Given the description of an element on the screen output the (x, y) to click on. 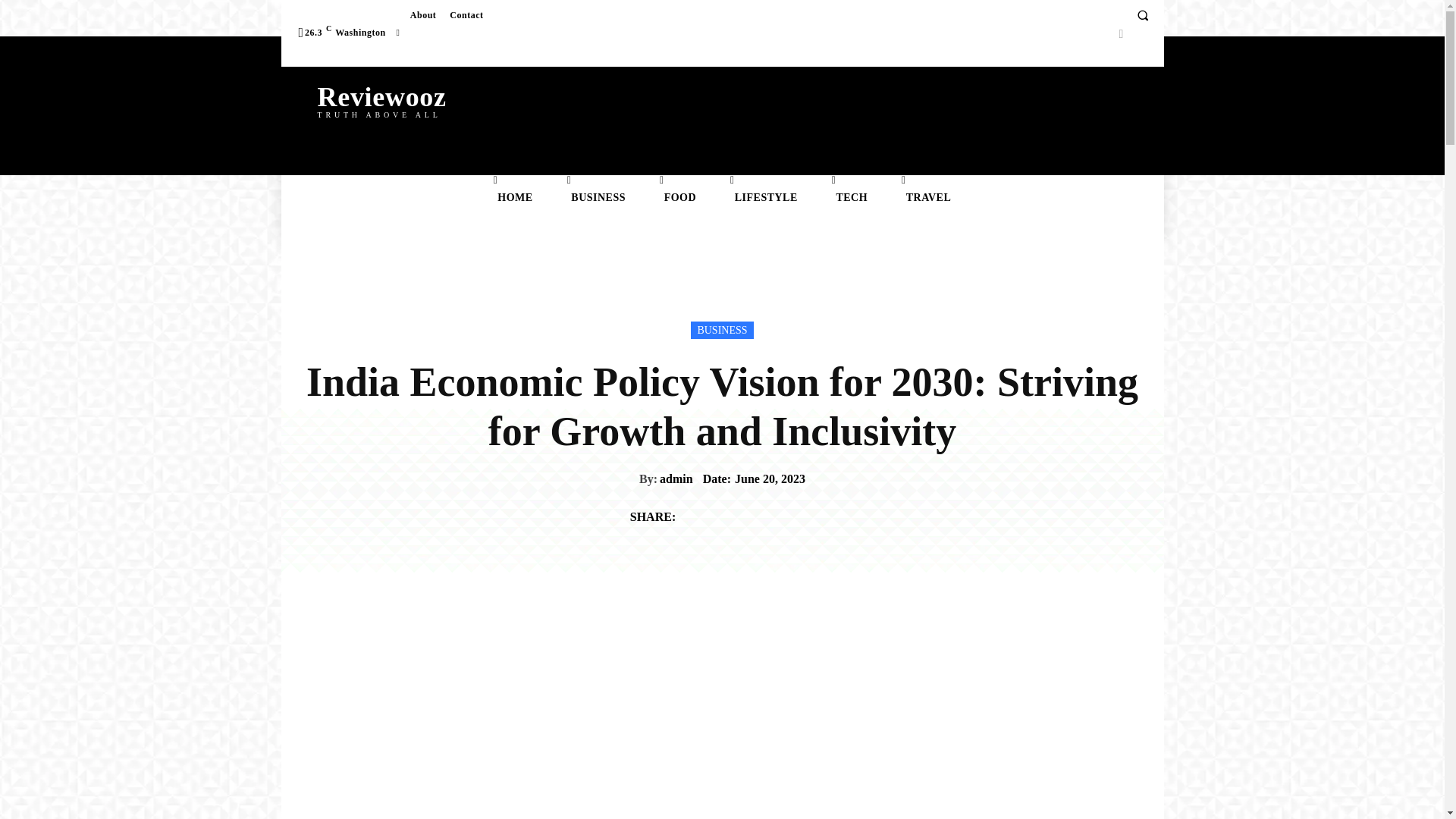
BUSINESS (596, 197)
About (423, 15)
HOME (381, 99)
Contact (512, 197)
